Given the description of an element on the screen output the (x, y) to click on. 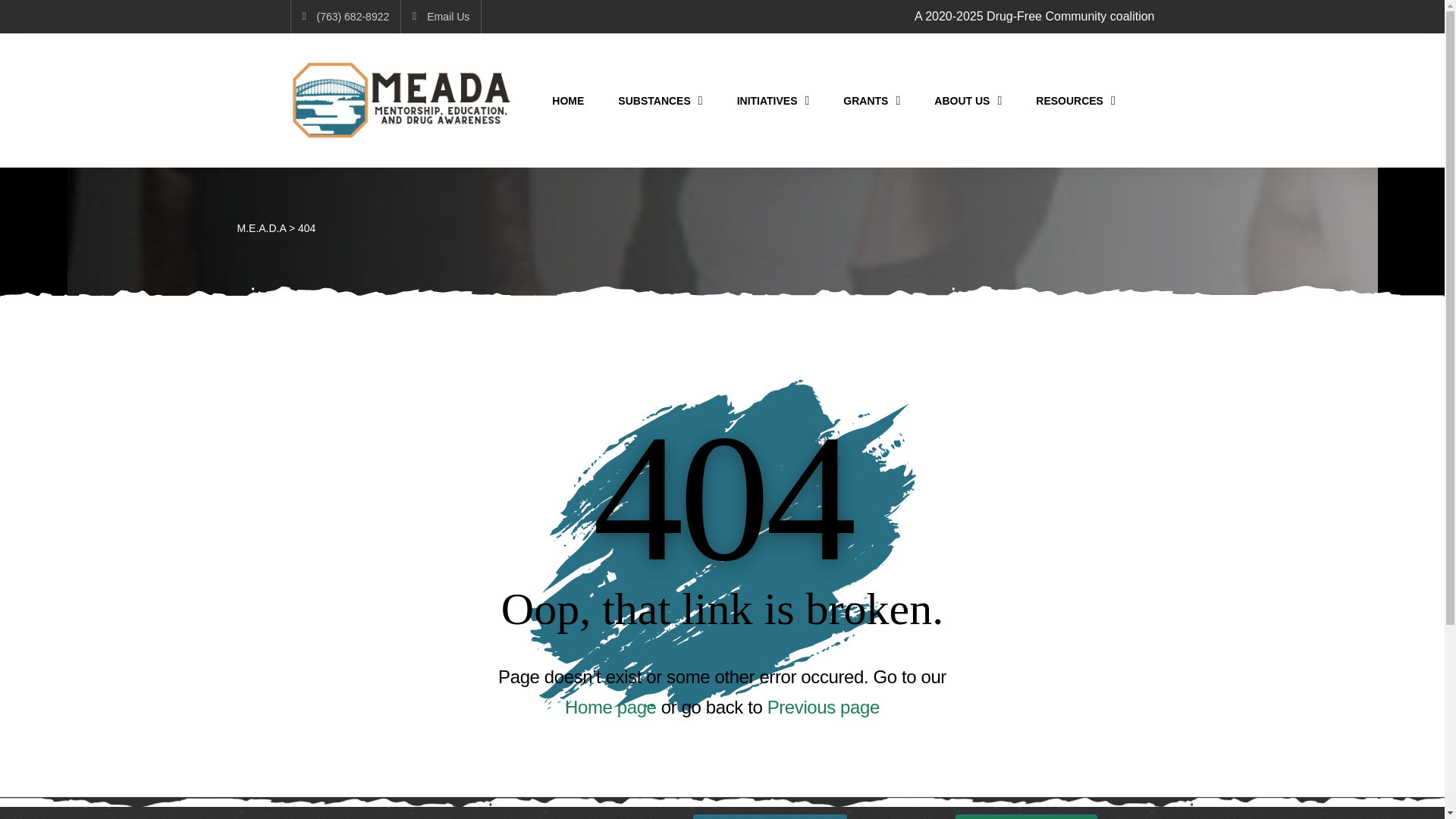
Go to 404. (306, 227)
Email Us (440, 16)
Go to M.E.A.D.A. (260, 227)
